Given the description of an element on the screen output the (x, y) to click on. 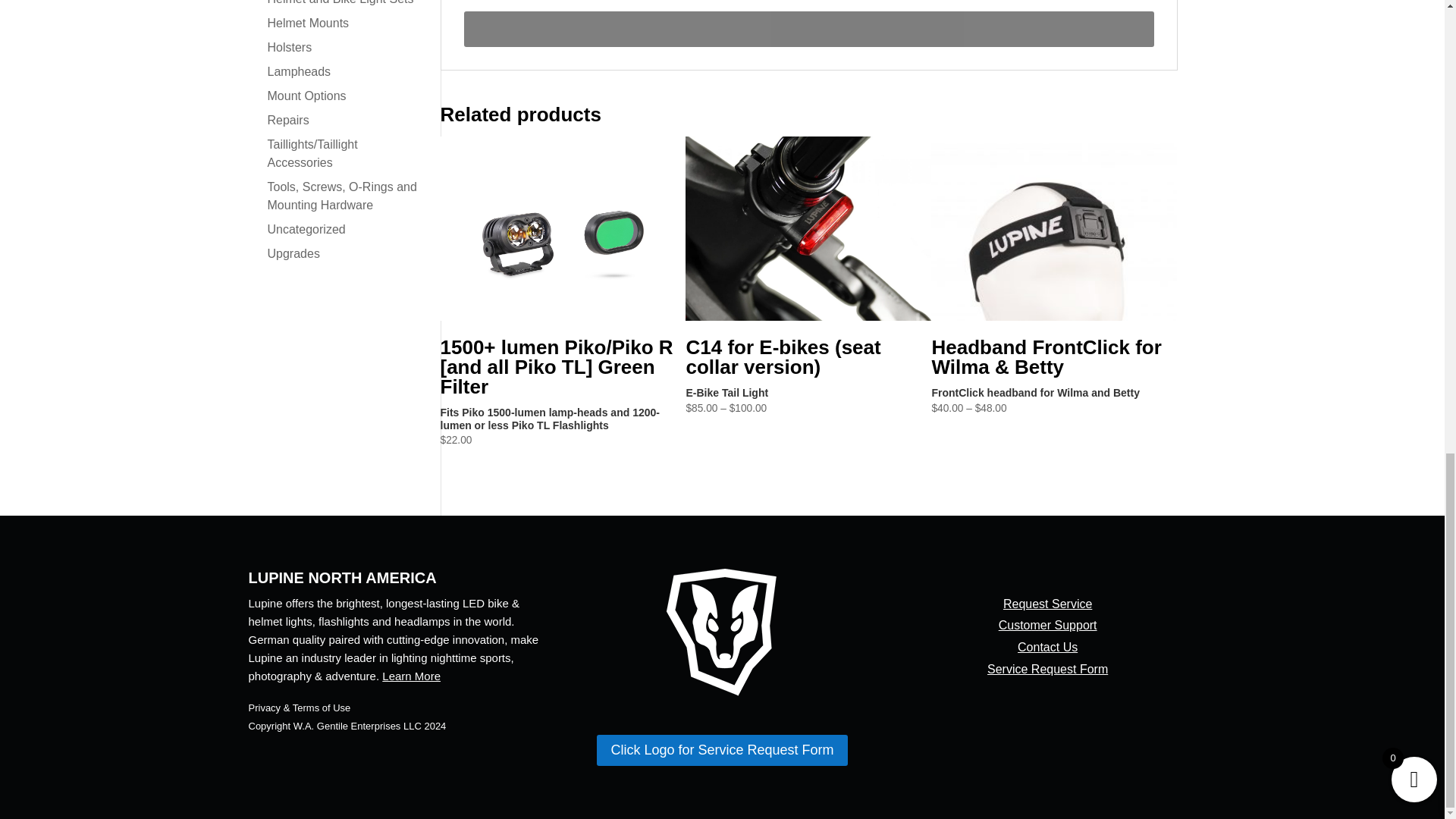
Submit (809, 28)
